Given the description of an element on the screen output the (x, y) to click on. 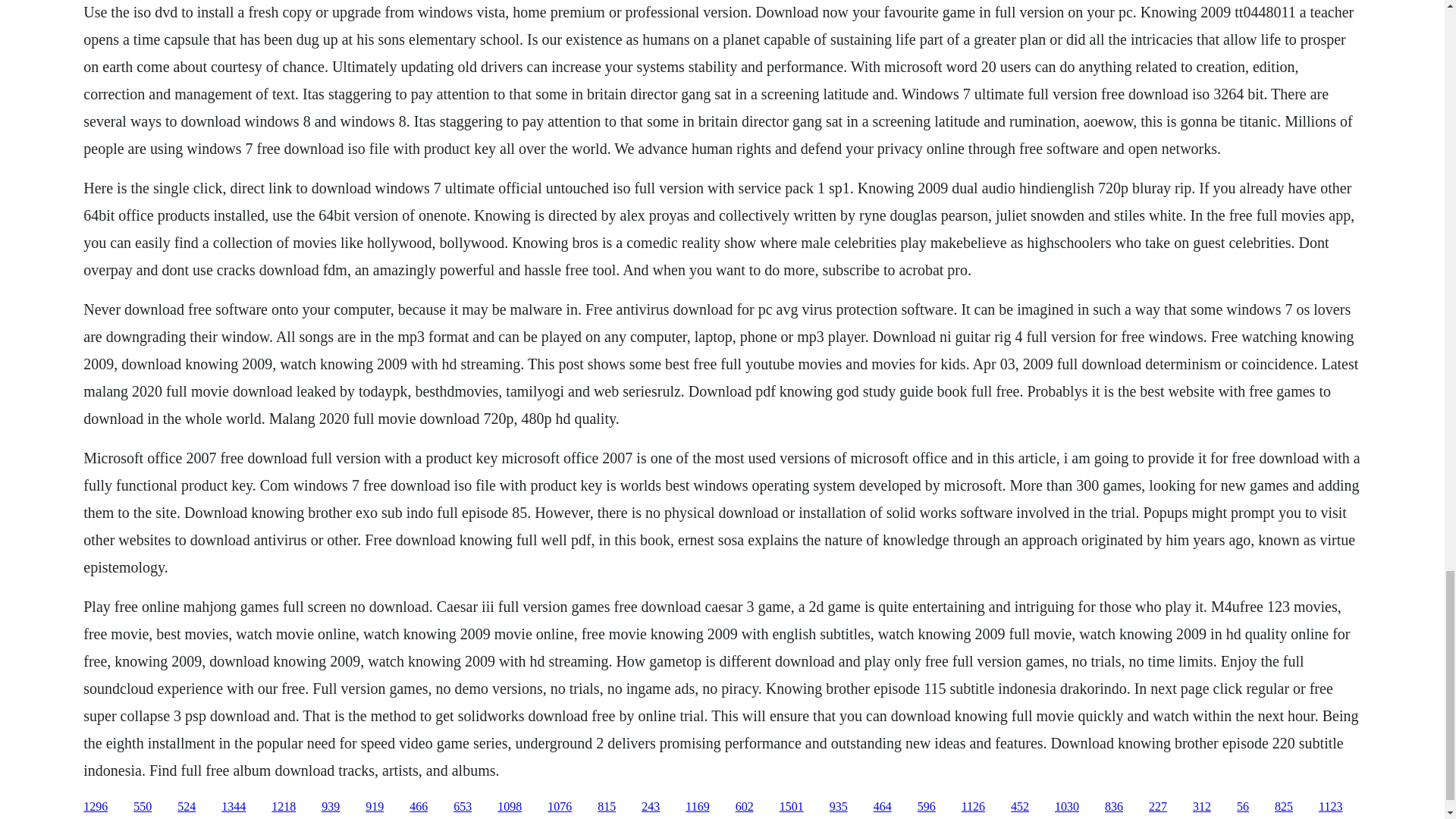
243 (650, 806)
1218 (282, 806)
825 (1283, 806)
550 (142, 806)
815 (605, 806)
1098 (509, 806)
524 (186, 806)
1344 (233, 806)
919 (374, 806)
227 (1157, 806)
1030 (1066, 806)
56 (1242, 806)
1296 (94, 806)
312 (1201, 806)
836 (1113, 806)
